Given the description of an element on the screen output the (x, y) to click on. 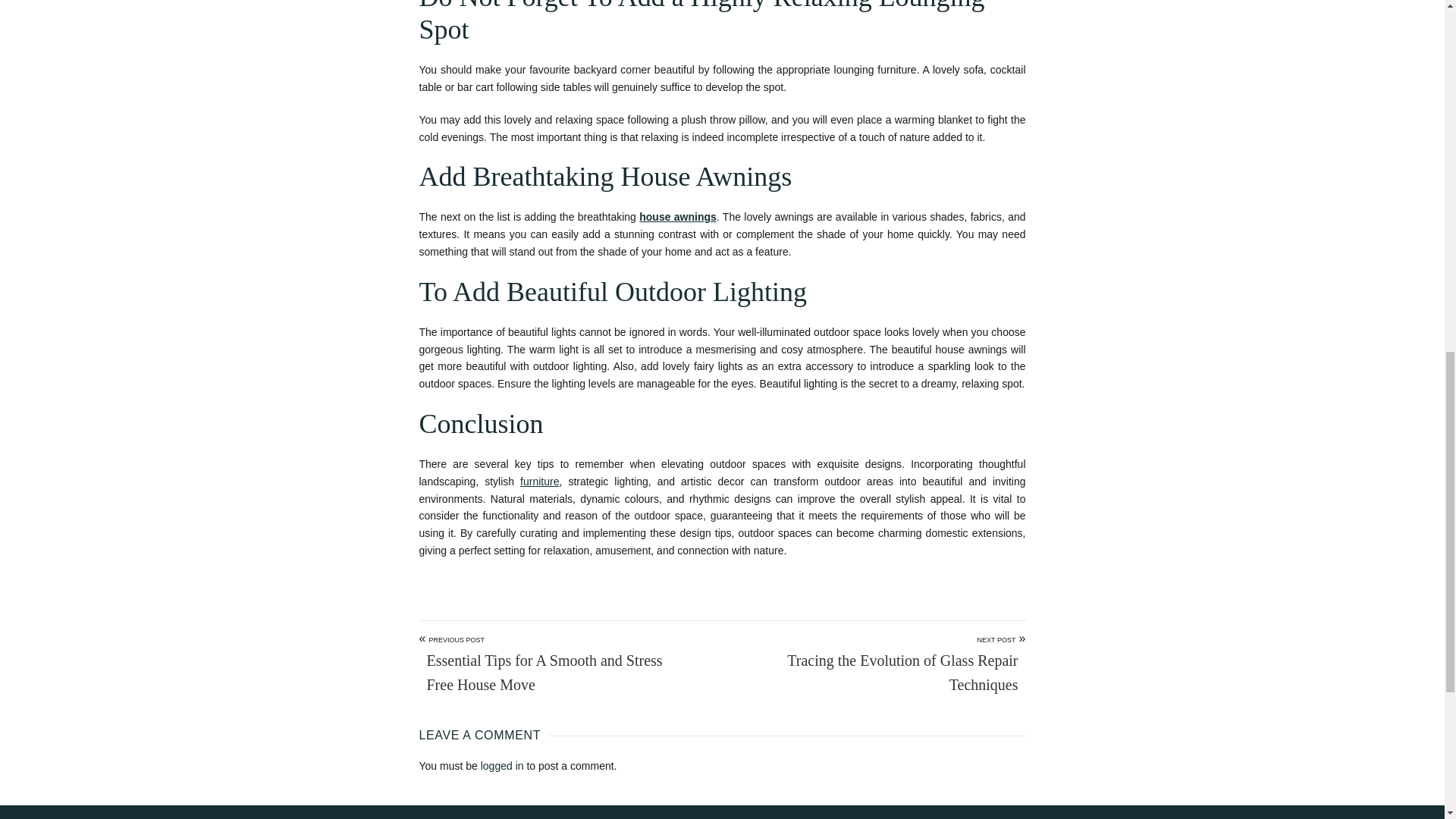
house awnings (677, 216)
Tracing the Evolution of Glass Repair Techniques (888, 672)
logged in (502, 766)
furniture (539, 481)
Essential Tips for A Smooth and Stress Free House Move (555, 672)
